Given the description of an element on the screen output the (x, y) to click on. 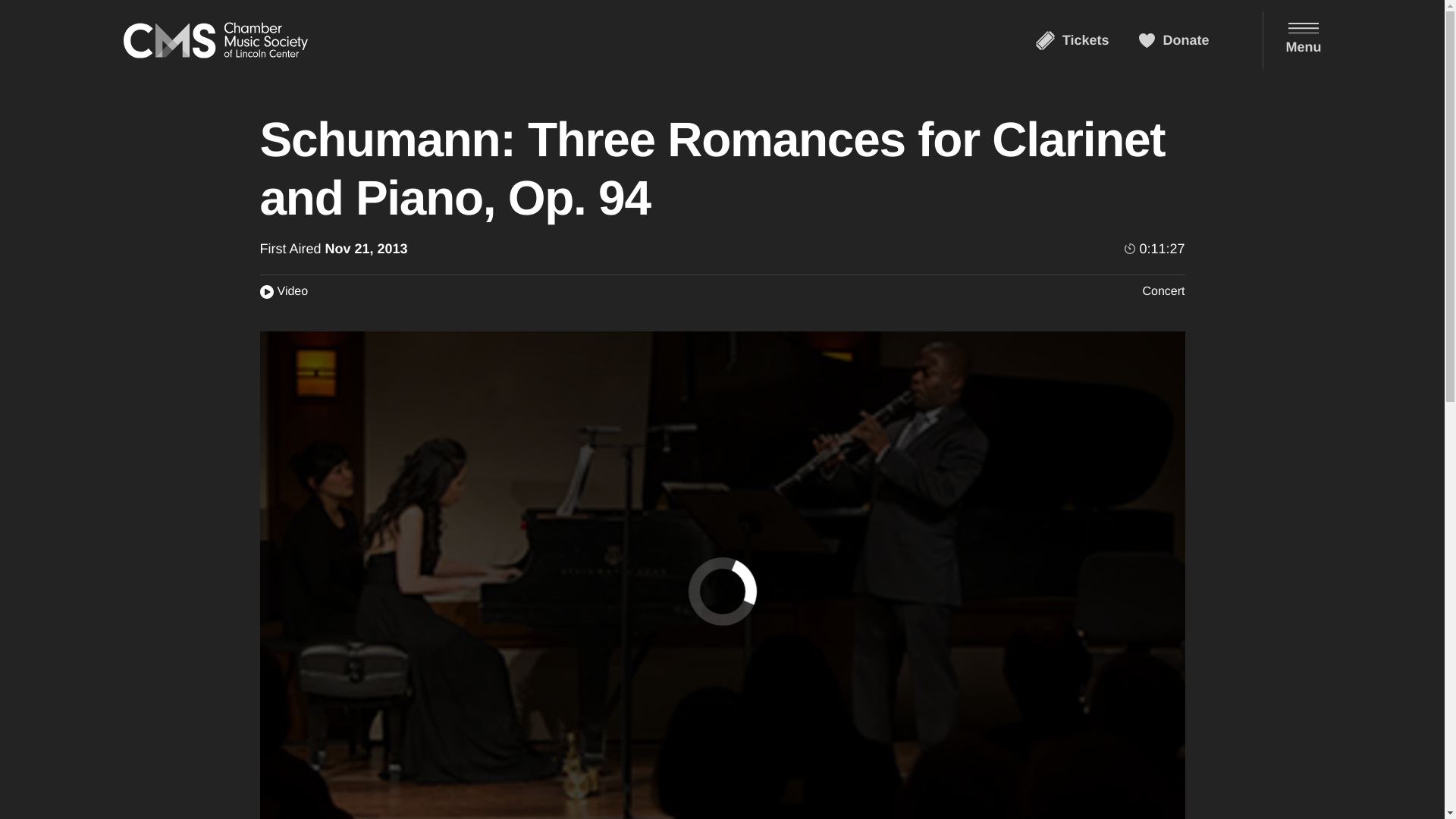
Tickets (1072, 40)
Back to home (214, 40)
Donate (1173, 40)
